Given the description of an element on the screen output the (x, y) to click on. 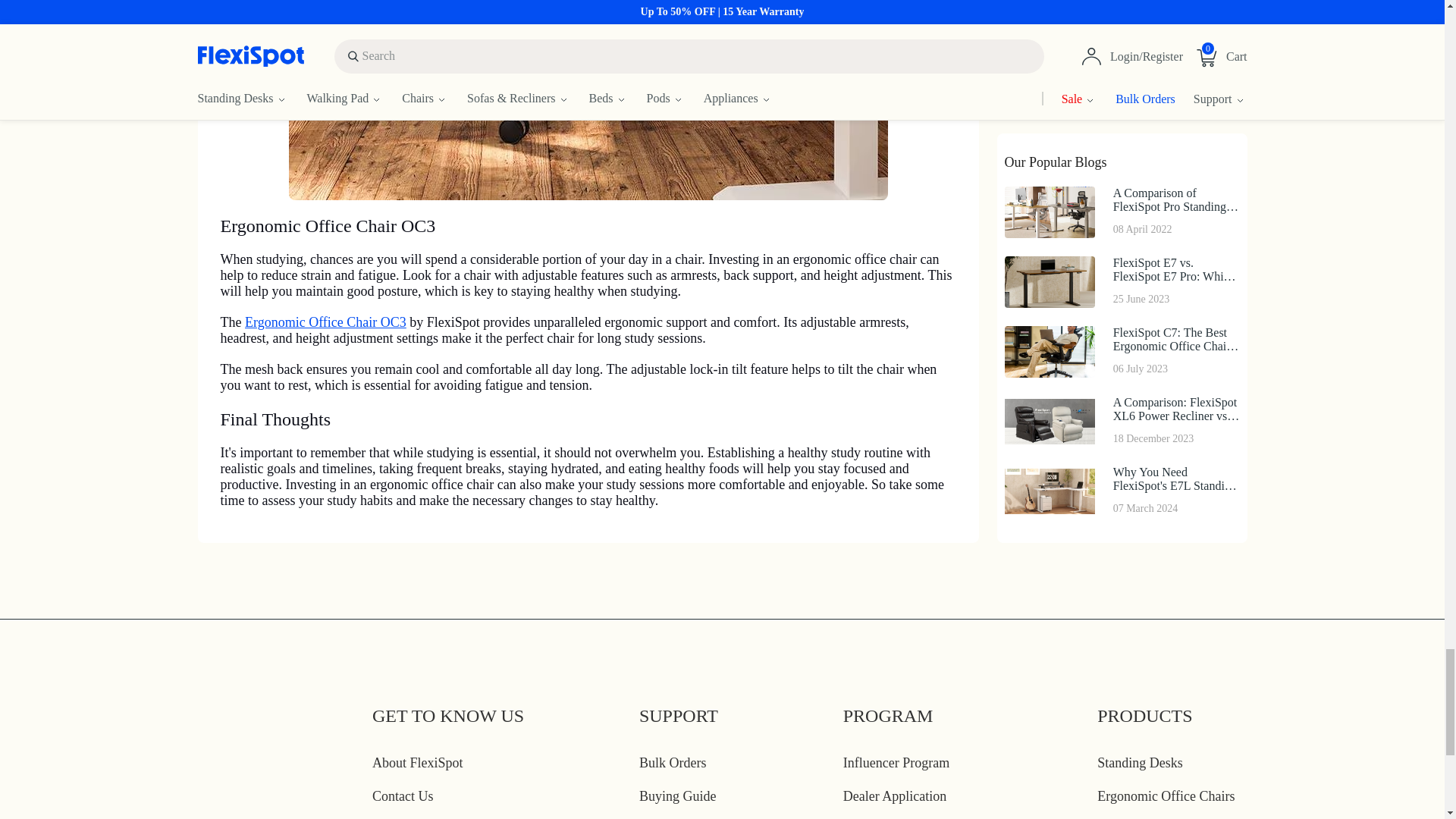
Ergonomic Office Chair OC3 (325, 322)
About FlexiSpot (417, 762)
Bulk Orders (672, 762)
Buying Guide (677, 795)
Contact Us (402, 795)
